Given the description of an element on the screen output the (x, y) to click on. 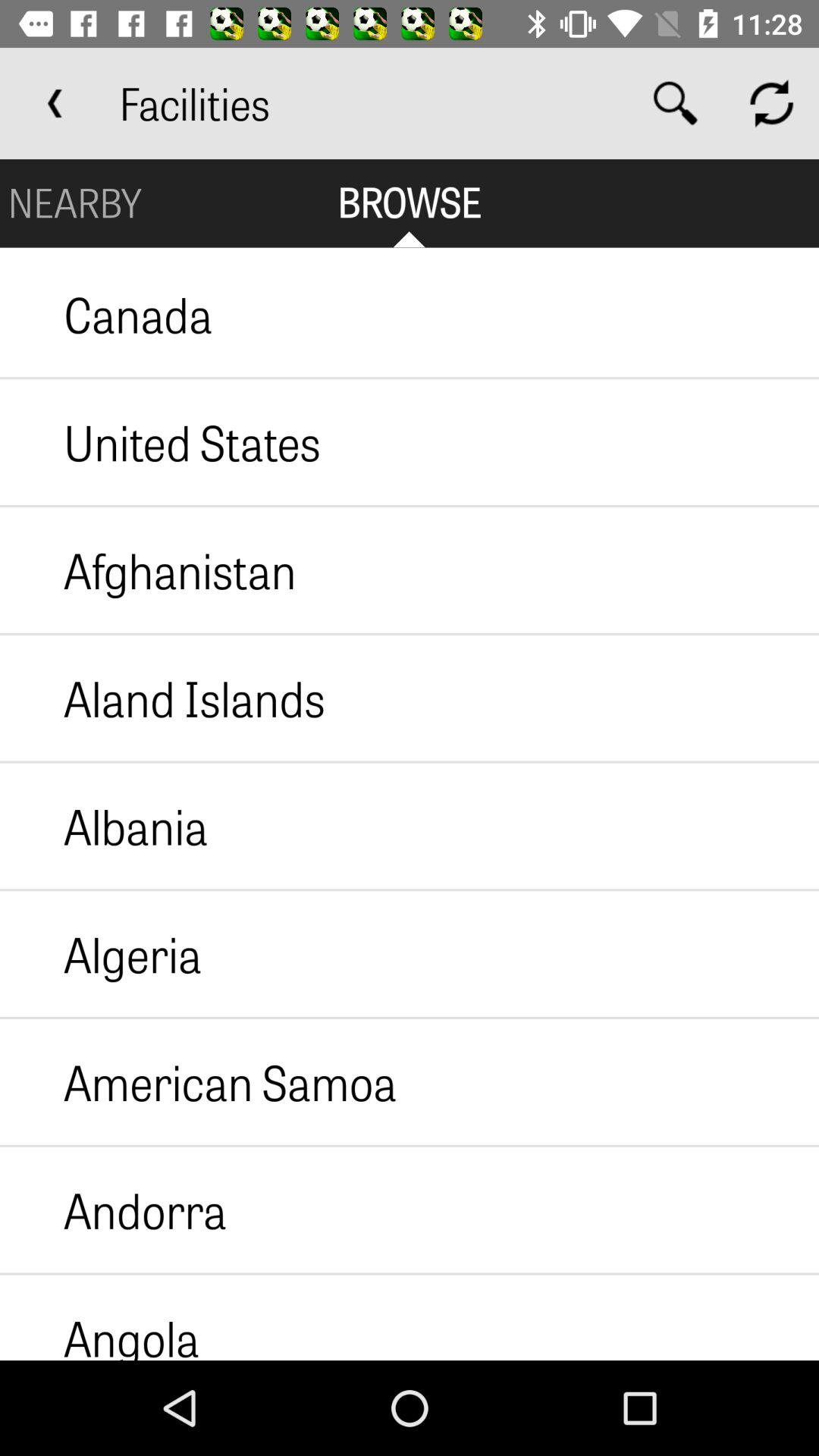
choose the afghanistan (148, 570)
